Given the description of an element on the screen output the (x, y) to click on. 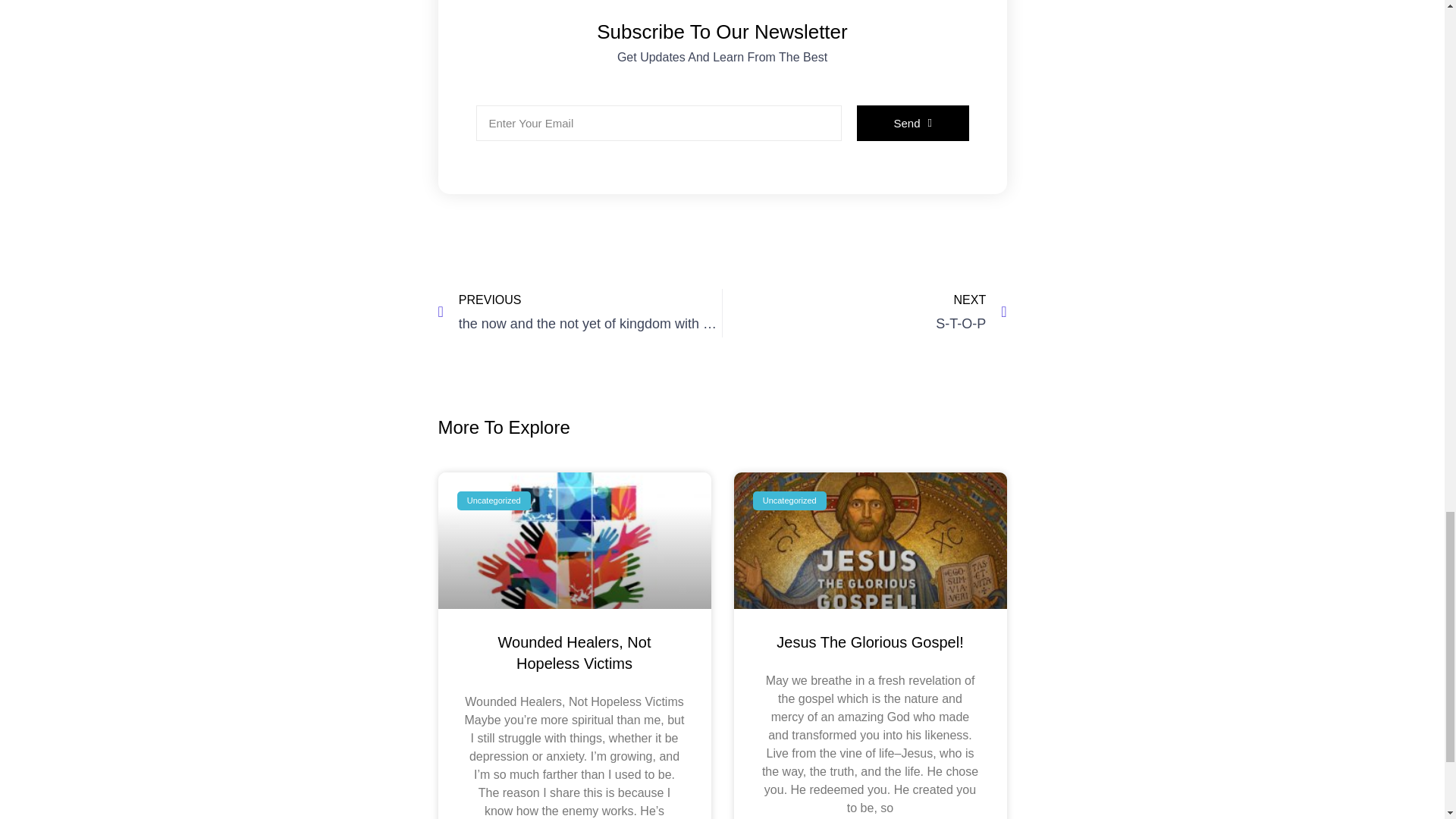
Wounded Healers, Not Hopeless Victims (573, 652)
Send (864, 312)
